Given the description of an element on the screen output the (x, y) to click on. 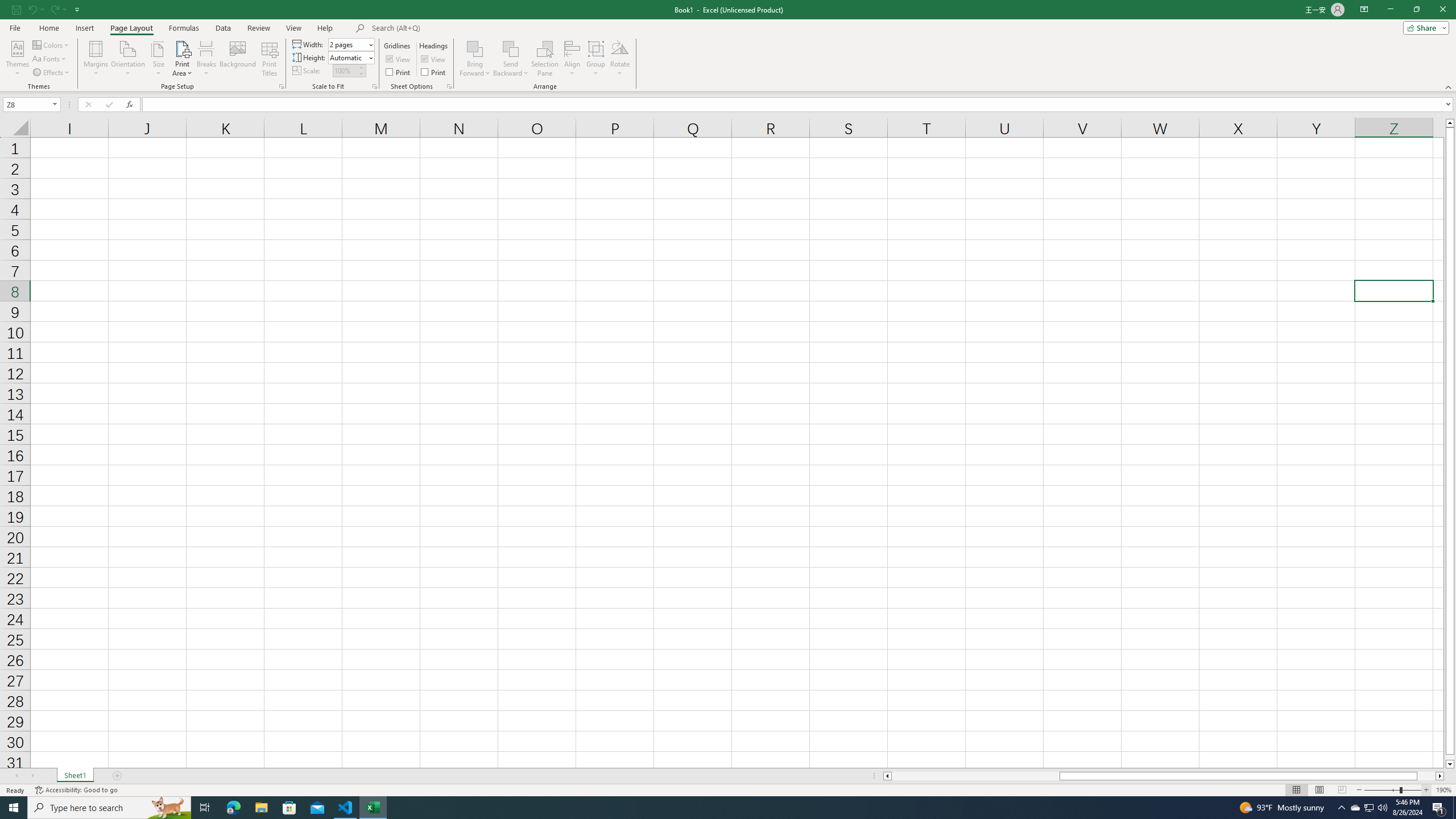
Home (48, 28)
Class: MsoCommandBar (728, 45)
Background... (237, 58)
Size (158, 58)
Zoom Out (1381, 790)
Width (347, 44)
Insert (83, 28)
Page left (975, 775)
